Given the description of an element on the screen output the (x, y) to click on. 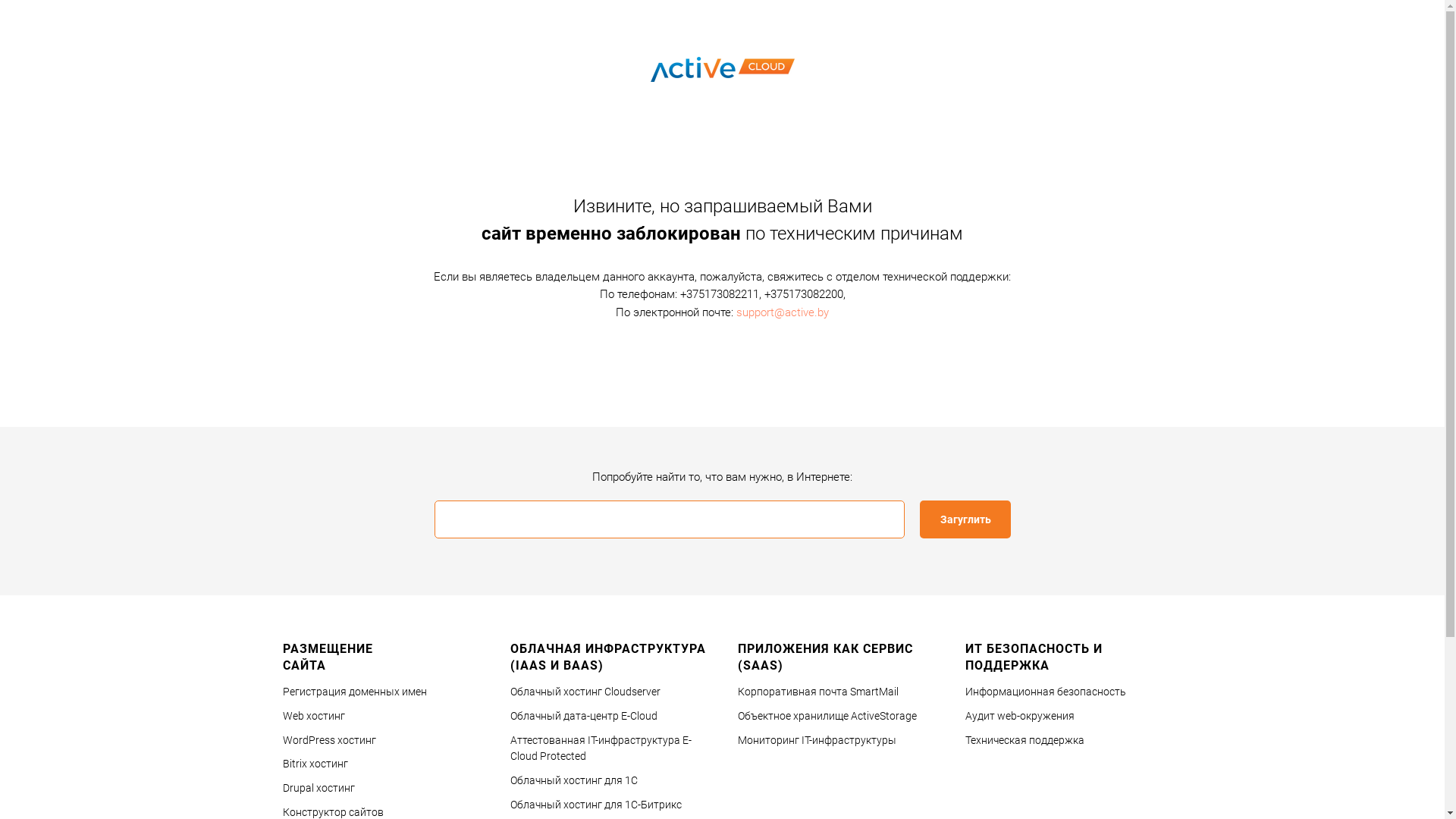
support@active.by Element type: text (782, 311)
+375173082200 Element type: text (803, 294)
+375173082211 Element type: text (718, 294)
